Given the description of an element on the screen output the (x, y) to click on. 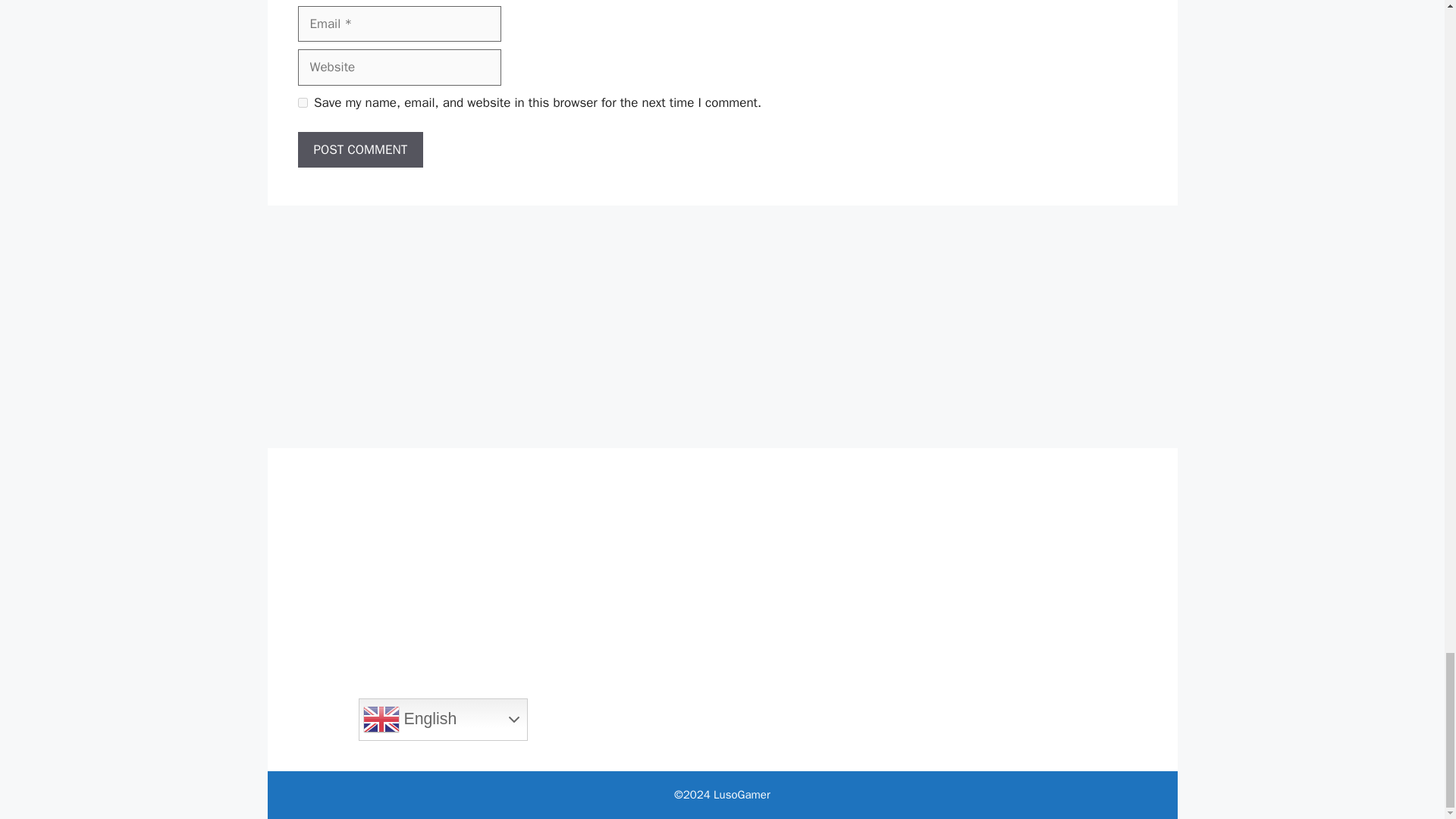
yes (302, 102)
Post Comment (360, 149)
